Given the description of an element on the screen output the (x, y) to click on. 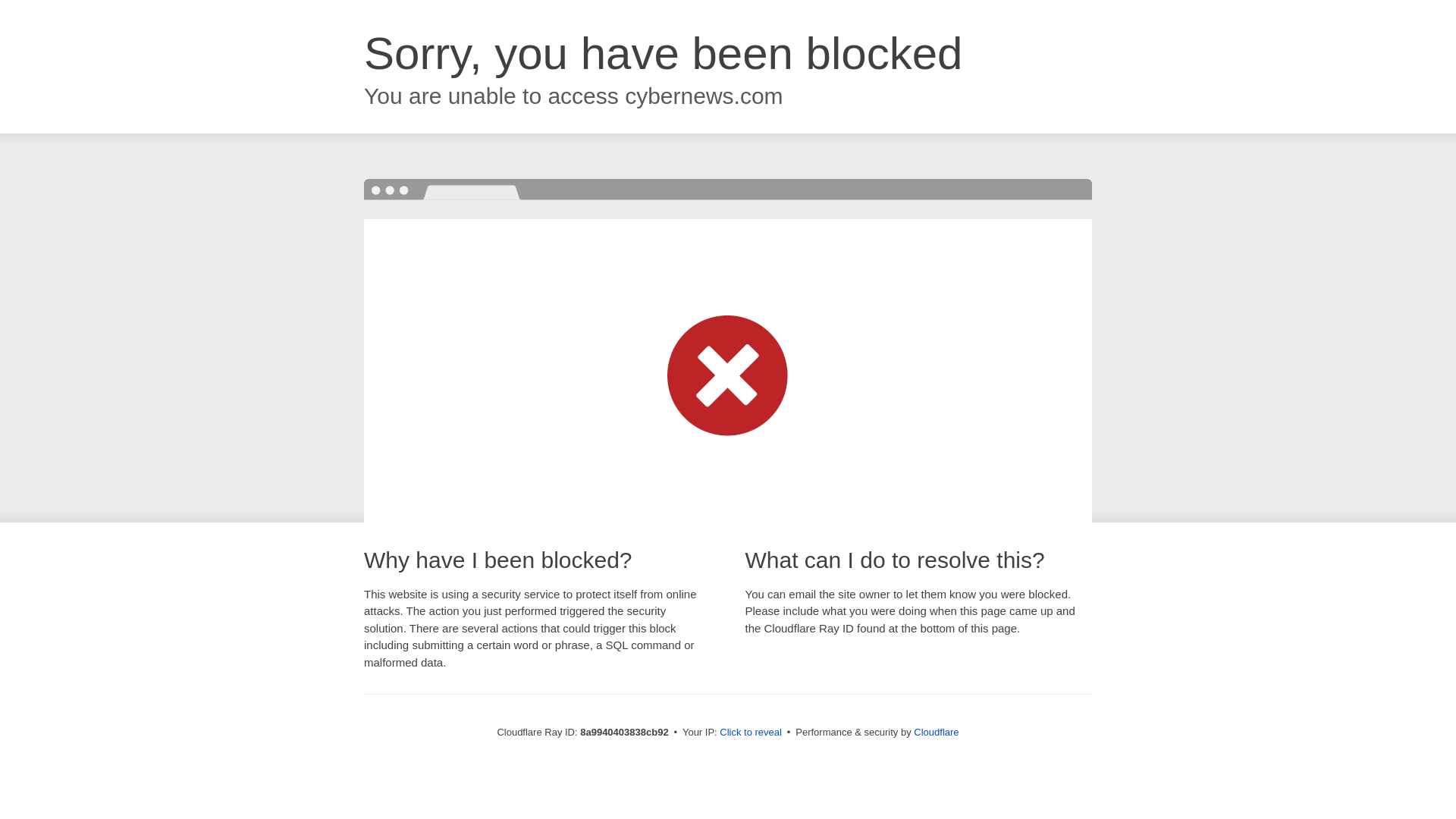
Click to reveal (750, 732)
Cloudflare (936, 731)
